Given the description of an element on the screen output the (x, y) to click on. 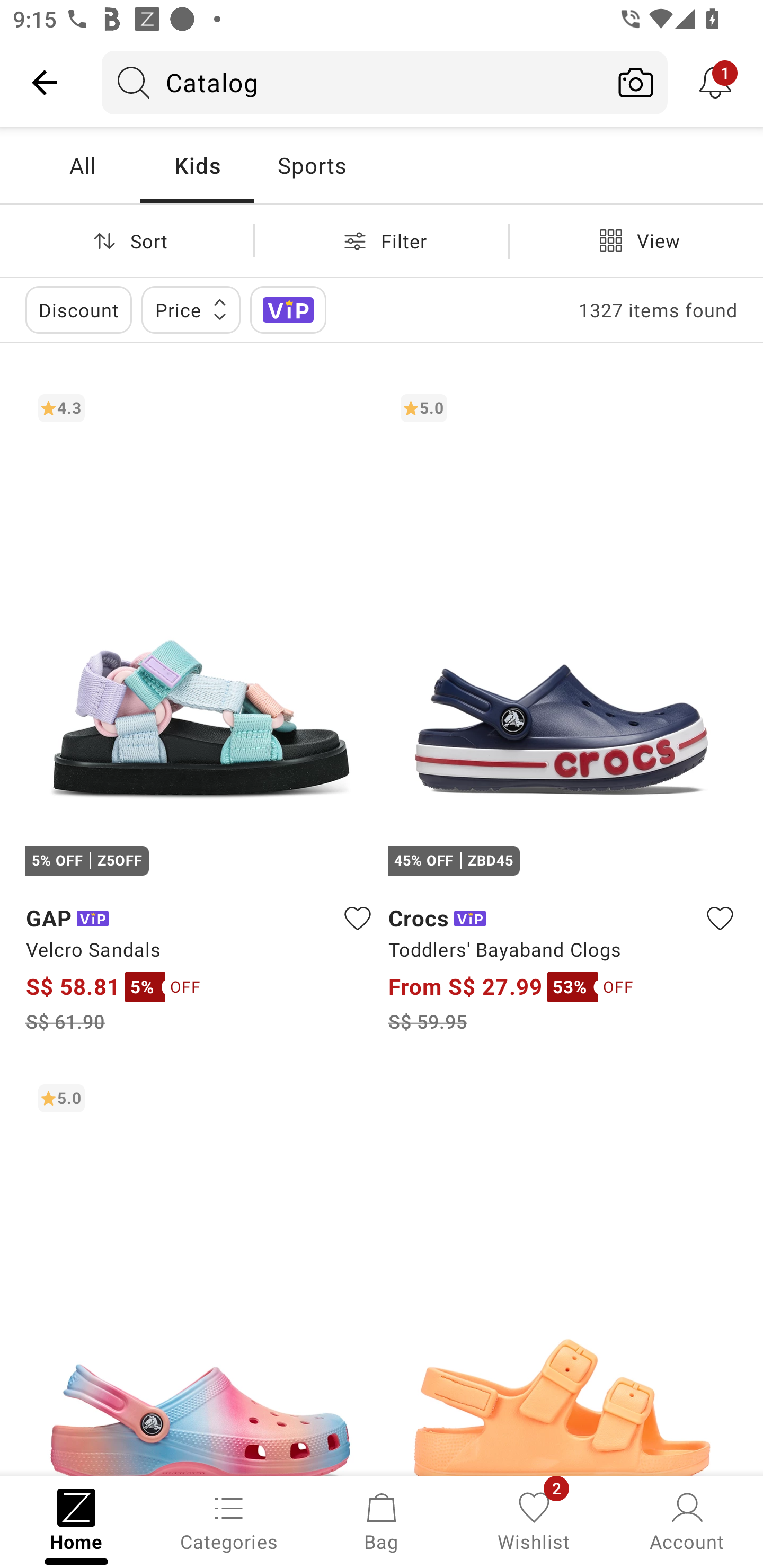
Navigate up (44, 82)
Catalog (352, 82)
All (82, 165)
Sports (311, 165)
Sort (126, 240)
Filter (381, 240)
View (636, 240)
Discount (78, 309)
Price (190, 309)
5.0 (200, 1272)
Categories (228, 1519)
Bag (381, 1519)
Wishlist, 2 new notifications Wishlist (533, 1519)
Account (686, 1519)
